Given the description of an element on the screen output the (x, y) to click on. 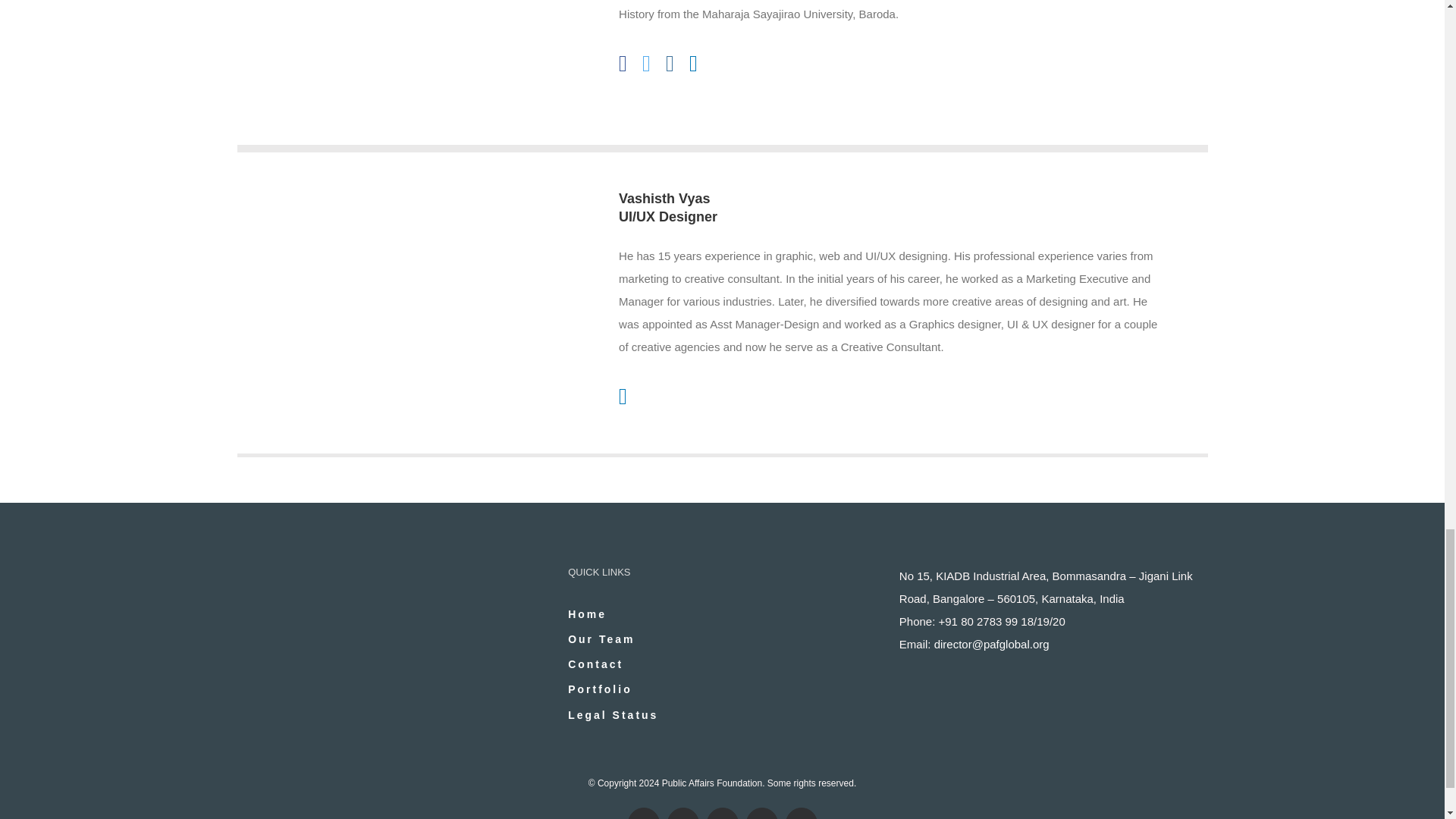
Dr. Annapoorna (397, 68)
